Given the description of an element on the screen output the (x, y) to click on. 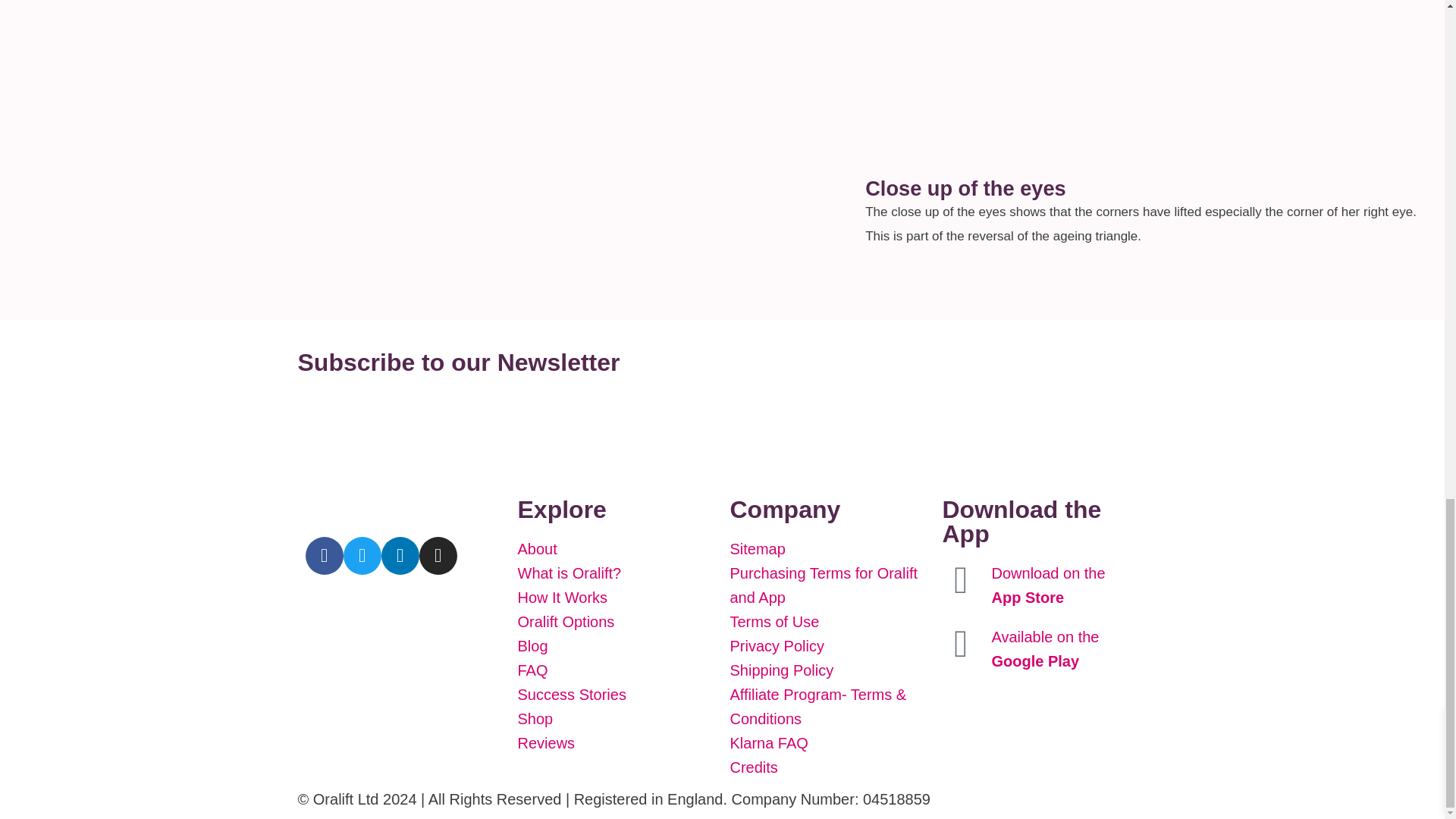
Submit (331, 425)
